Given the description of an element on the screen output the (x, y) to click on. 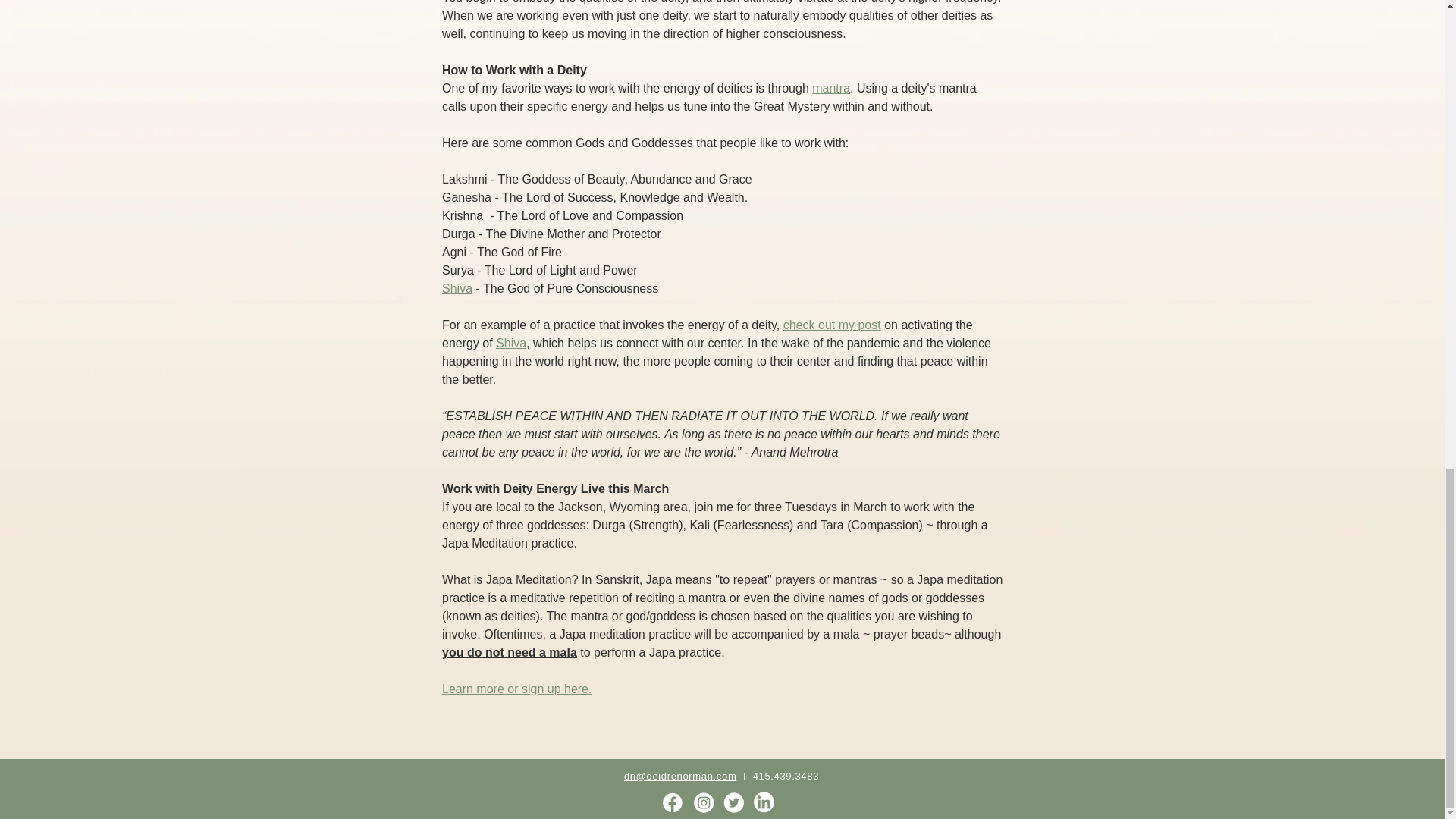
Shiva (456, 287)
check out my post (831, 324)
mantra (831, 88)
Shiva (510, 342)
Learn more or sign up here. (516, 688)
